Given the description of an element on the screen output the (x, y) to click on. 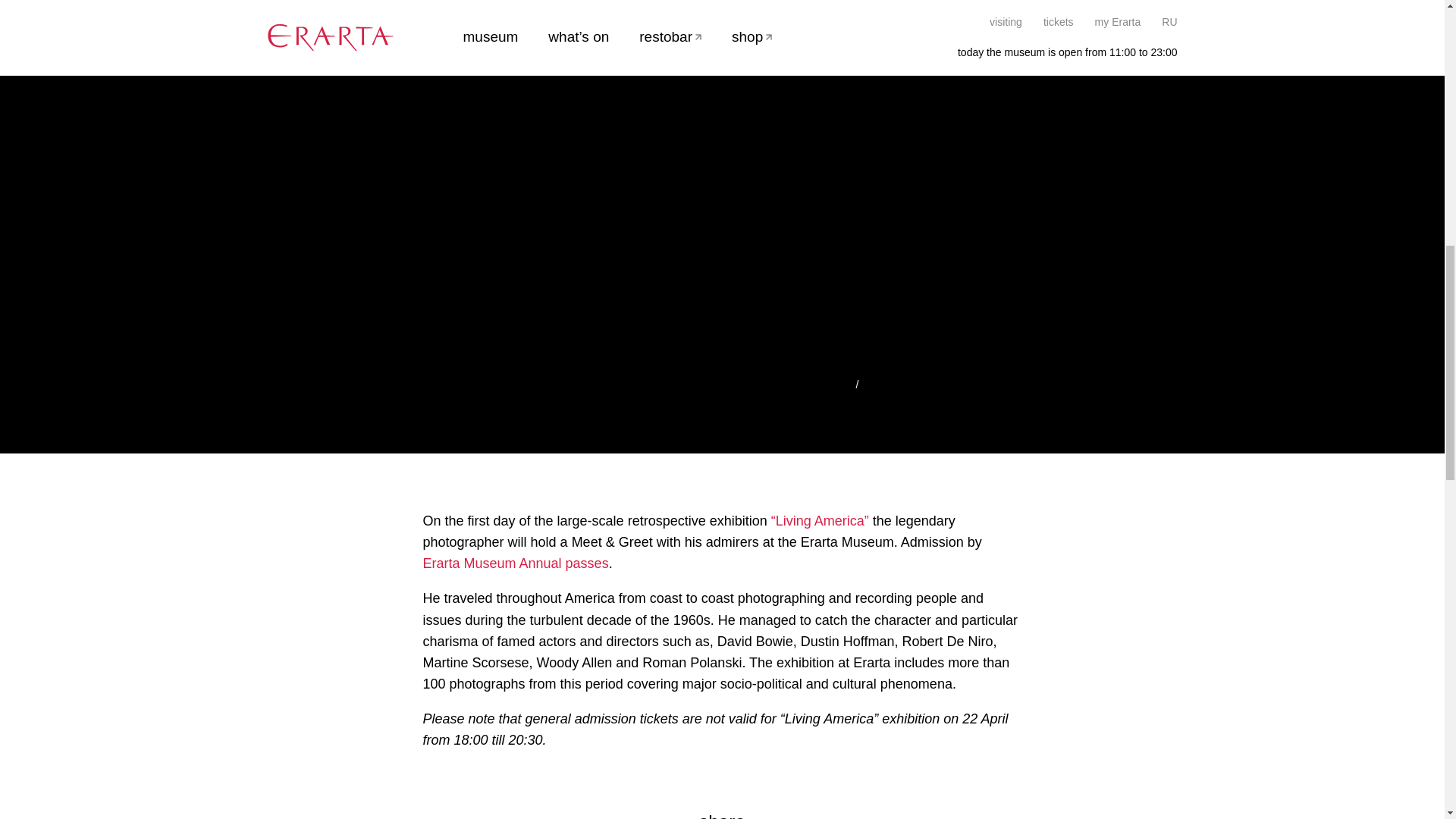
Erarta Museum Annual passes (515, 563)
